Given the description of an element on the screen output the (x, y) to click on. 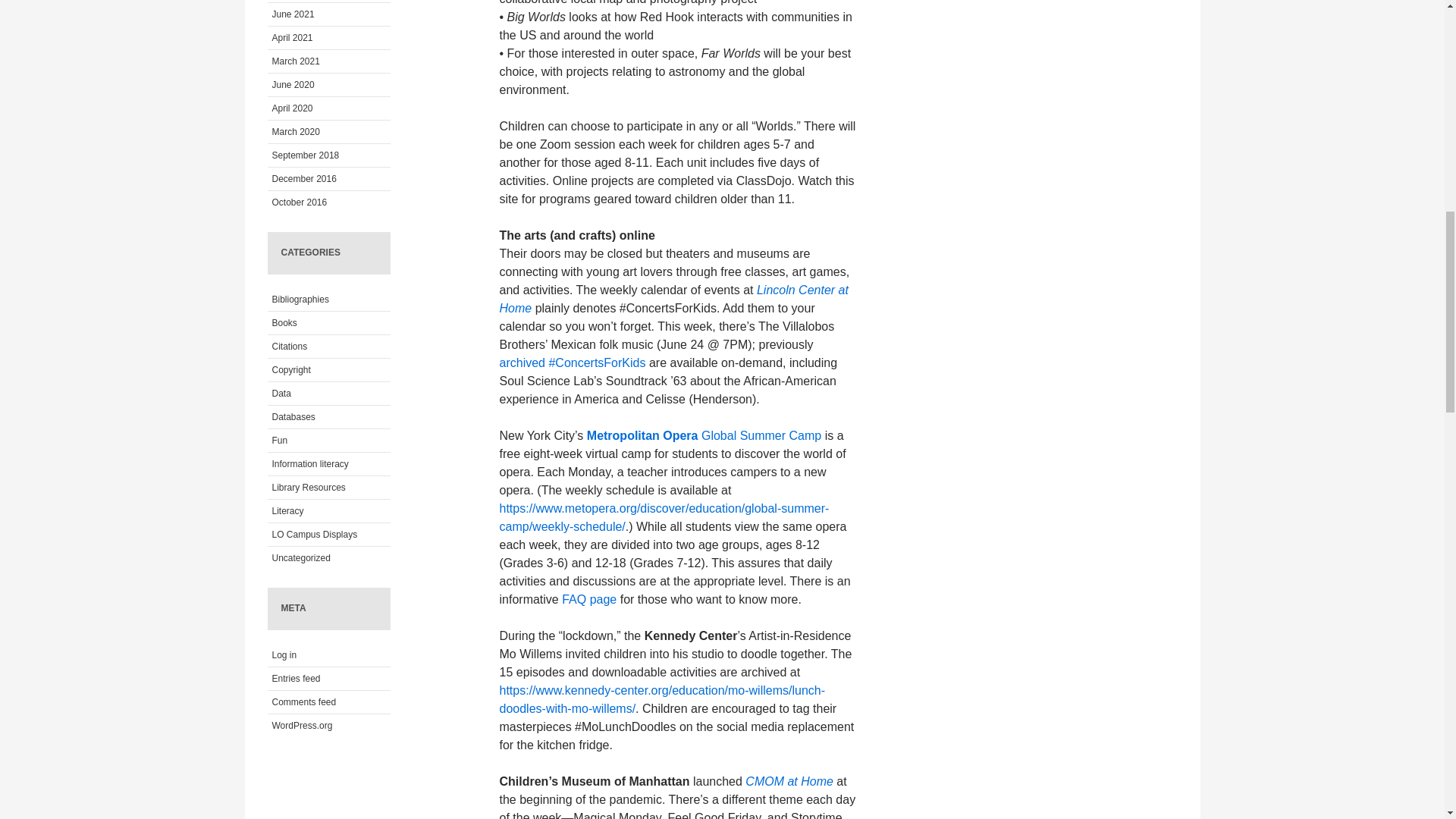
Metropolitan Opera Global Summer Camp (703, 435)
CMOM at Home  (790, 780)
FAQ page (588, 599)
Lincoln Center at Home (673, 298)
